Given the description of an element on the screen output the (x, y) to click on. 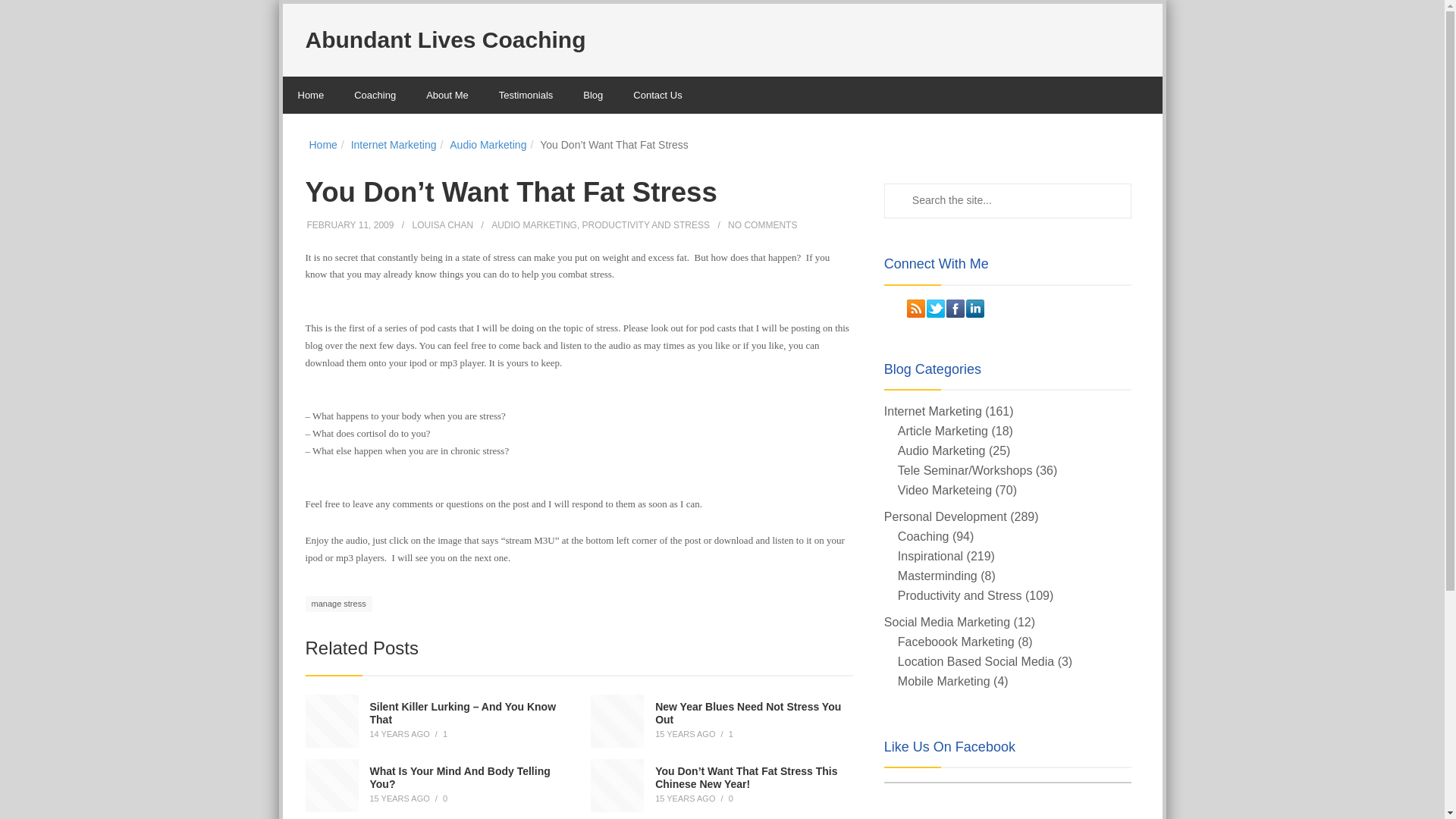
Abundant Lives Coaching (444, 40)
General: RSS (915, 308)
LOUISA CHAN (442, 225)
Internet Marketing (393, 144)
NO COMMENTS (762, 225)
Home (322, 144)
Home (322, 144)
New Year Blues Need Not Stress You Out (748, 713)
LinkedIn (975, 308)
LinkedIn (975, 308)
About Me (446, 94)
What Is Your Mind And Body Telling You? (459, 777)
Facebook (954, 308)
Home (310, 94)
Abundant Lives Coaching (444, 40)
